Given the description of an element on the screen output the (x, y) to click on. 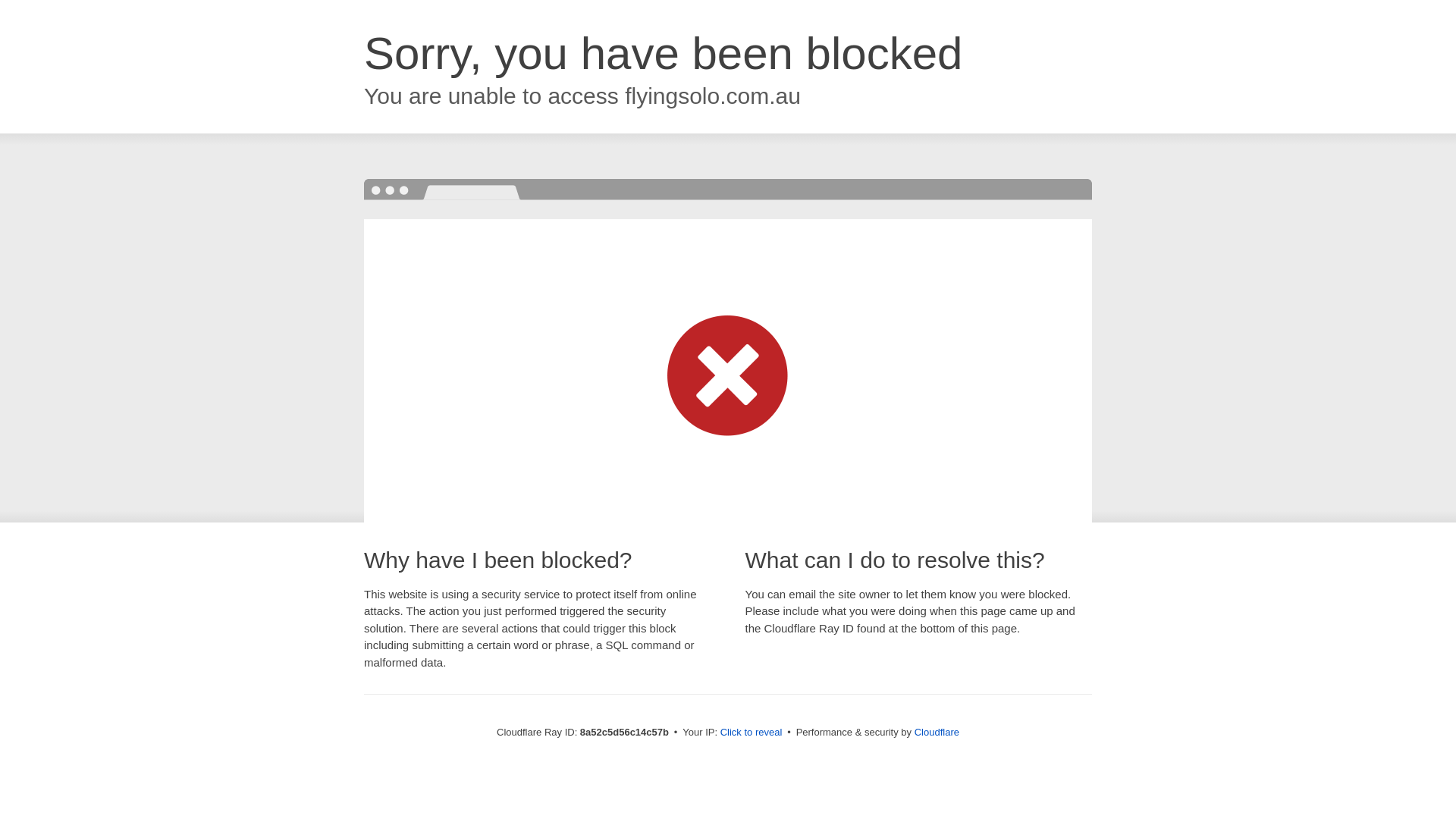
Click to reveal (751, 732)
Cloudflare (936, 731)
